Given the description of an element on the screen output the (x, y) to click on. 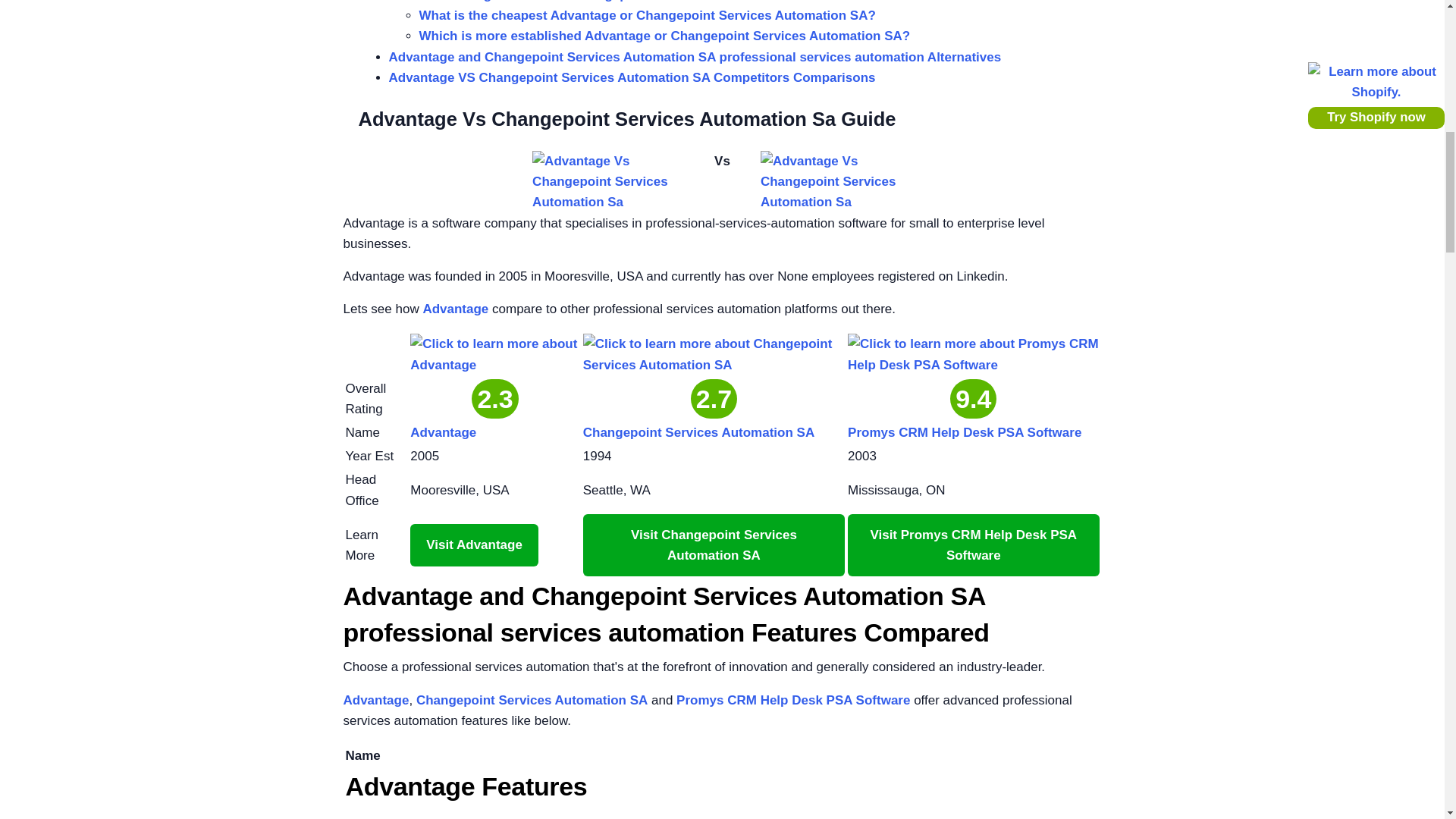
Click to learn more about Changepoint Services Automation SA (713, 353)
Click to learn more about Promys CRM Help Desk PSA Software (973, 353)
Advantage Vs Changepoint Services Automation Sa (608, 181)
Advantage Vs Changepoint Services Automation Sa (836, 181)
Click to learn more about Advantage (494, 353)
